Given the description of an element on the screen output the (x, y) to click on. 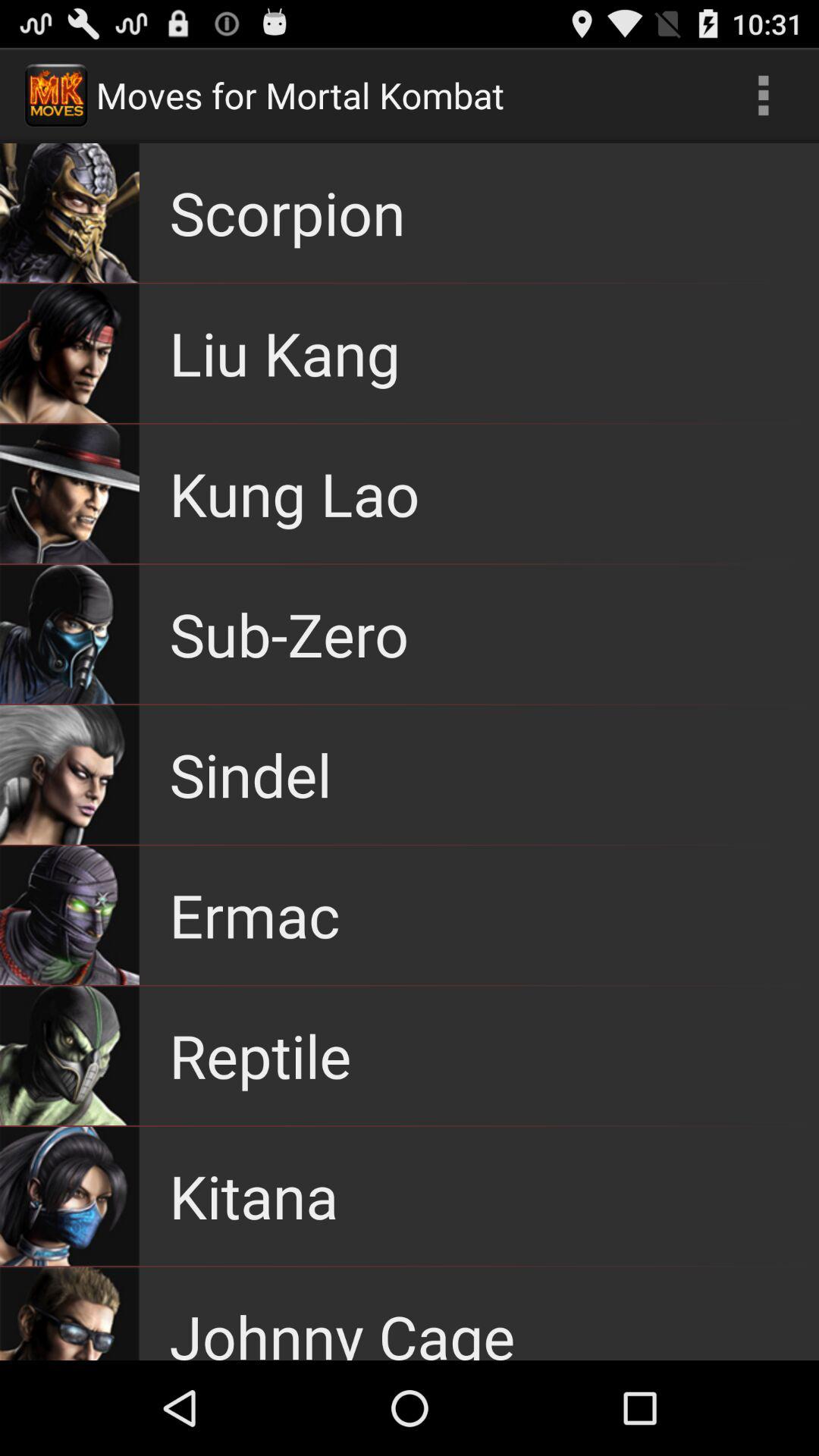
flip to sindel item (250, 774)
